Given the description of an element on the screen output the (x, y) to click on. 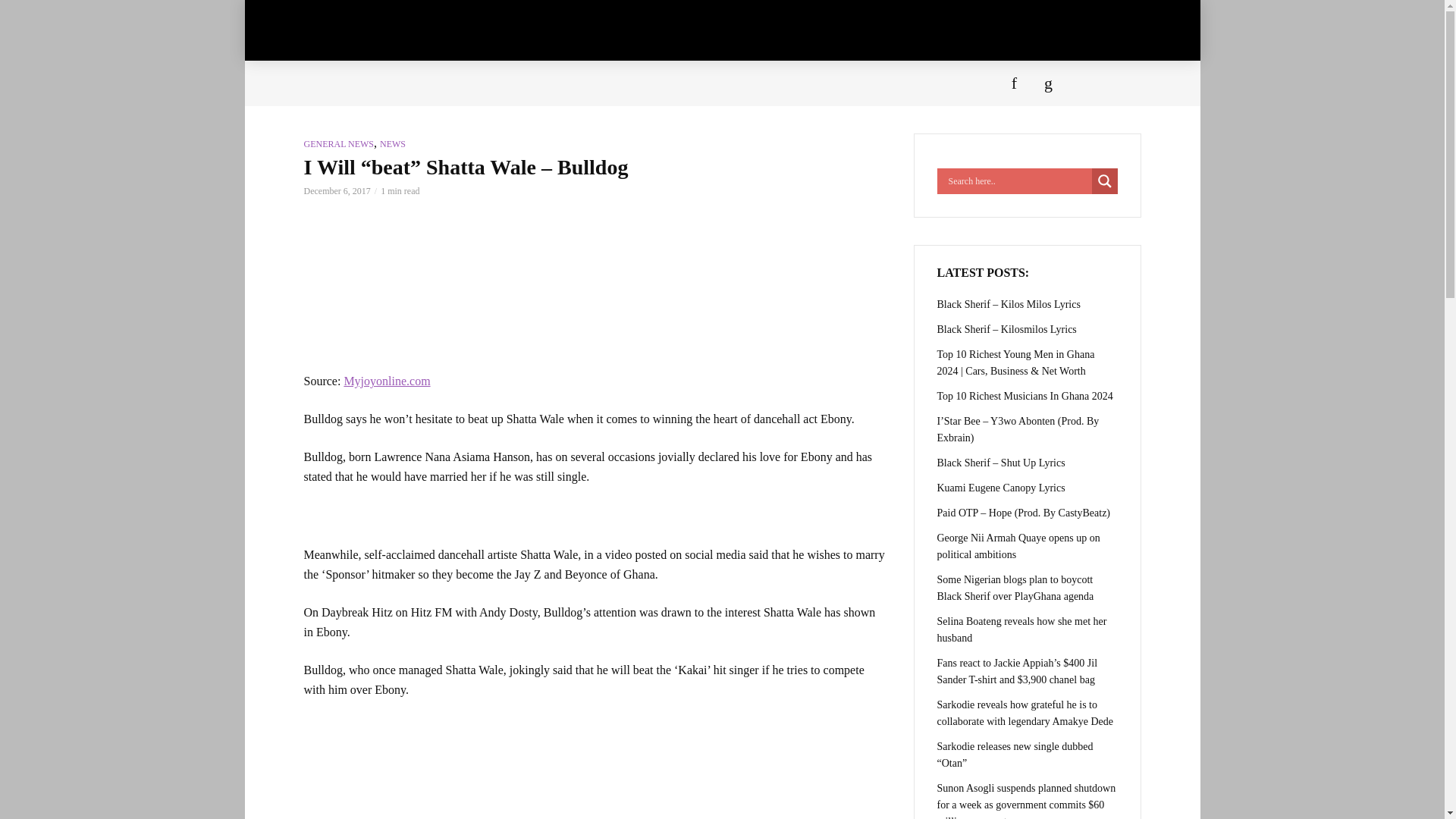
NEWS (393, 143)
GENERAL NEWS (338, 143)
Myjoyonline.com (386, 380)
